Given the description of an element on the screen output the (x, y) to click on. 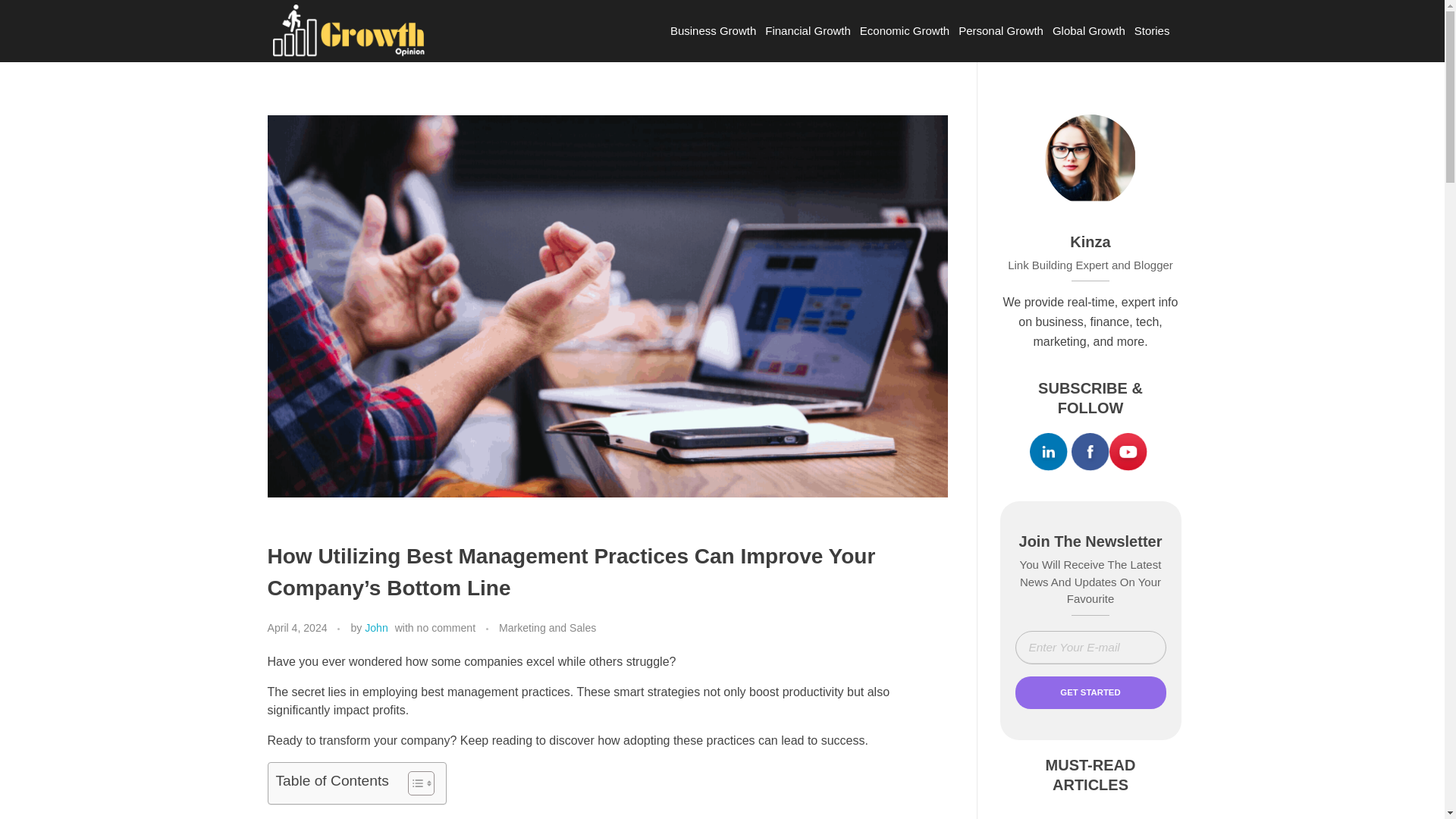
Stories (1151, 30)
View all posts in Marketing and Sales (547, 627)
Global Growth (1088, 30)
View all posts by John (376, 627)
Business Growth (712, 30)
Economic Growth (904, 30)
Personal Growth (1000, 30)
Financial Growth (808, 30)
Get Started (1090, 692)
